Given the description of an element on the screen output the (x, y) to click on. 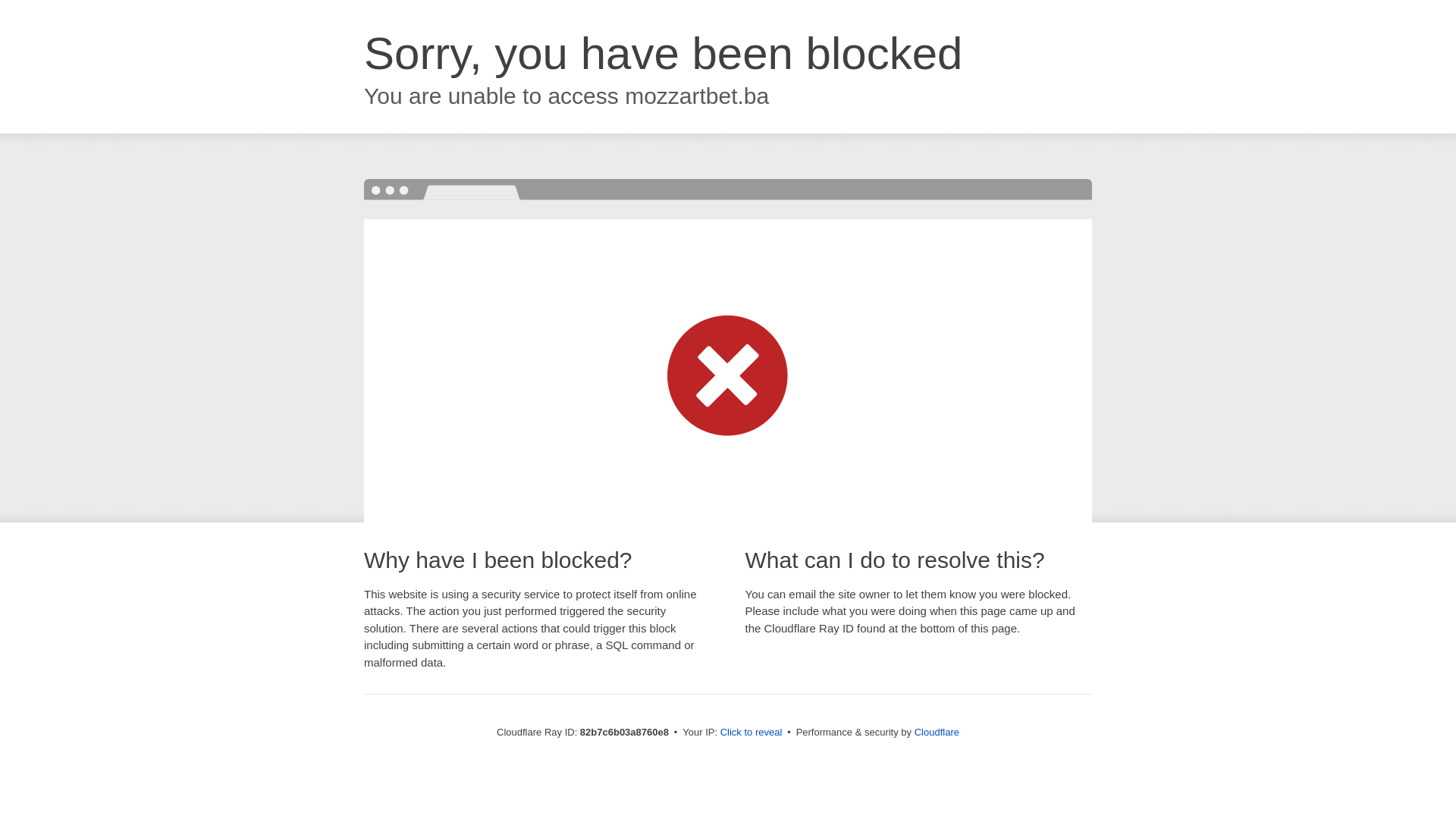
Click to reveal Element type: text (751, 732)
Cloudflare Element type: text (936, 731)
